Given the description of an element on the screen output the (x, y) to click on. 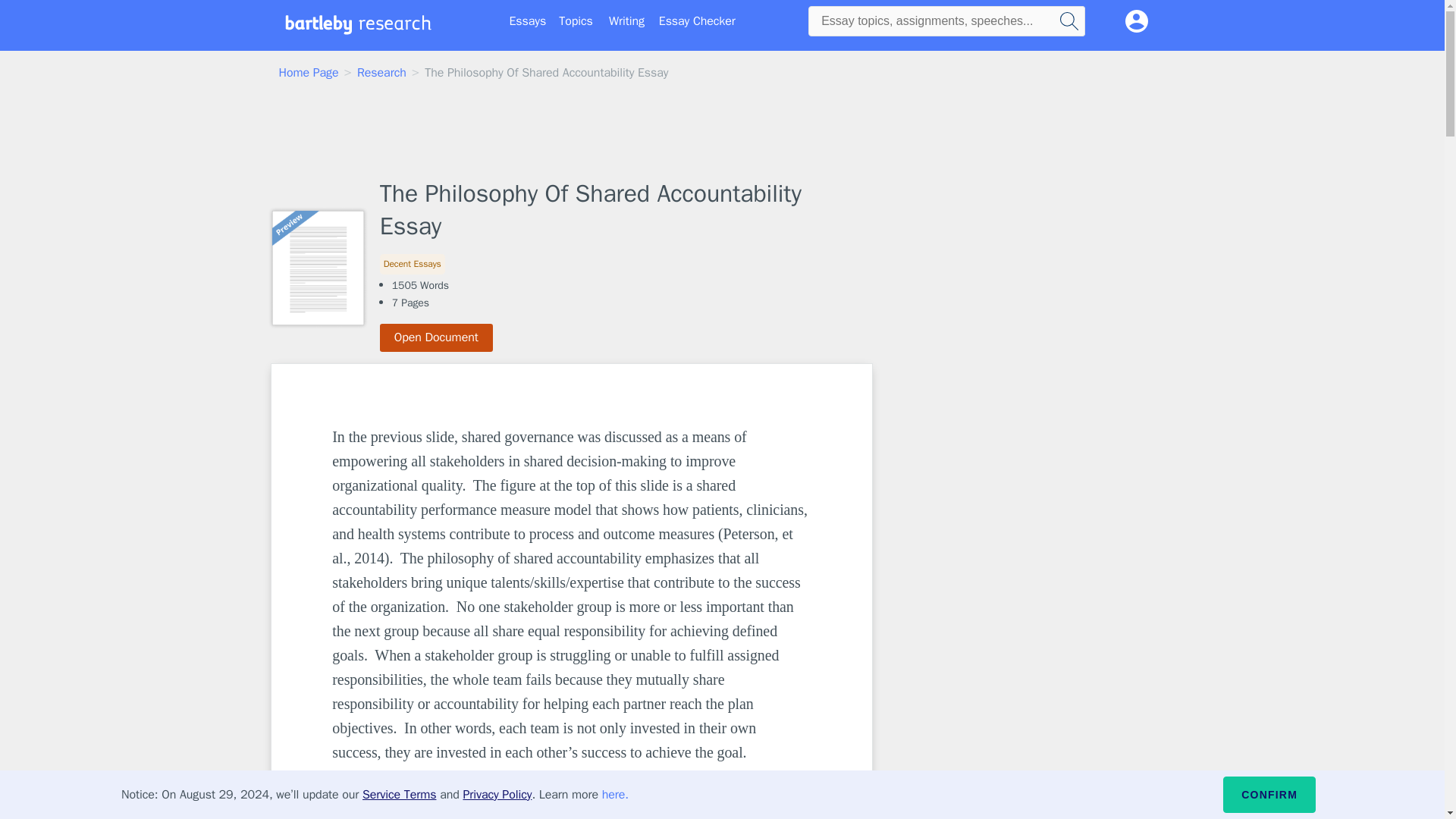
Home Page (309, 72)
Open Document (436, 337)
Essay Checker (697, 20)
Writing (626, 20)
Topics (575, 20)
Essays (528, 20)
Research (381, 72)
